Given the description of an element on the screen output the (x, y) to click on. 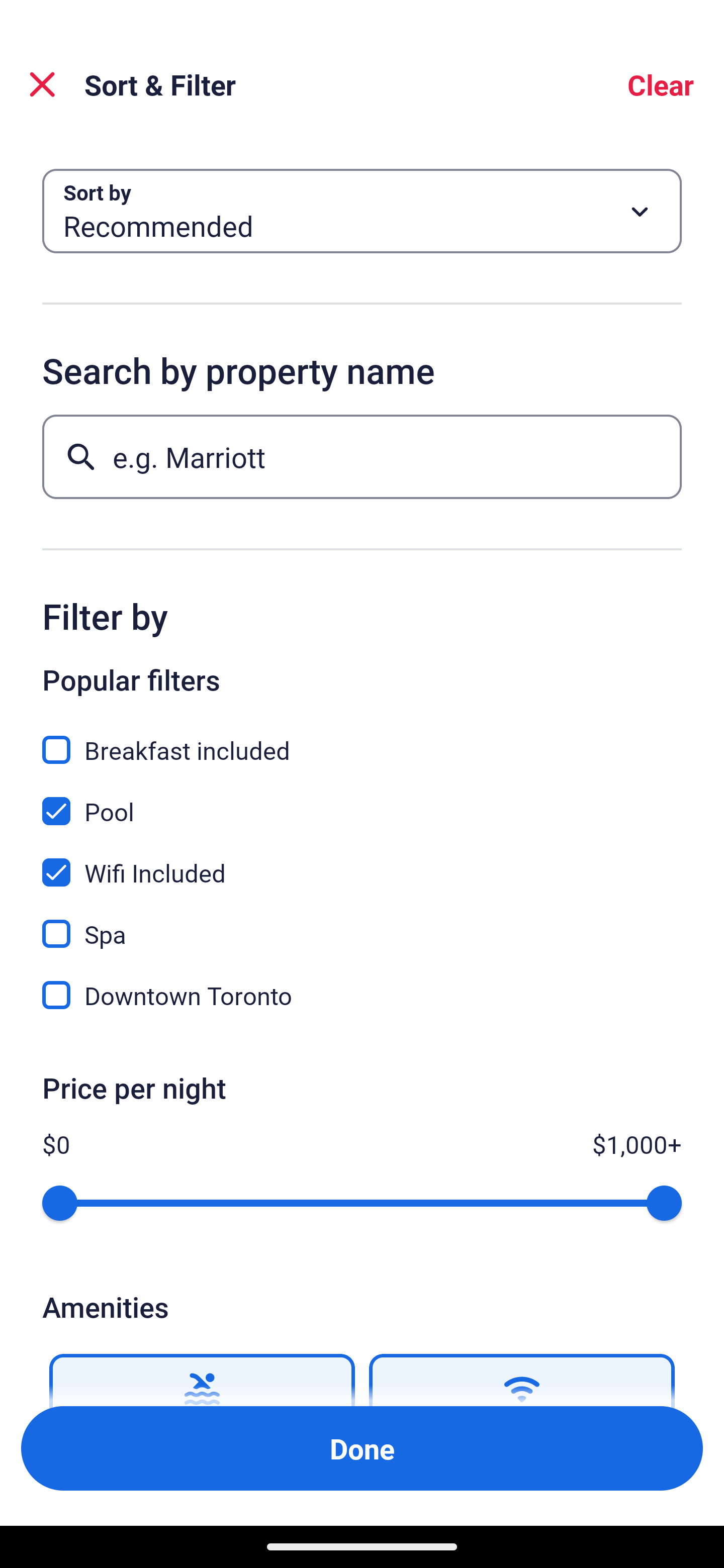
Close Sort and Filter (42, 84)
Clear (660, 84)
Sort by Button Recommended (361, 211)
e.g. Marriott Button (361, 455)
Breakfast included, Breakfast included (361, 738)
Pool, Pool (361, 800)
Wifi Included, Wifi Included (361, 861)
Spa, Spa (361, 922)
Downtown Toronto, Downtown Toronto (361, 995)
Apply and close Sort and Filter Done (361, 1448)
